Given the description of an element on the screen output the (x, y) to click on. 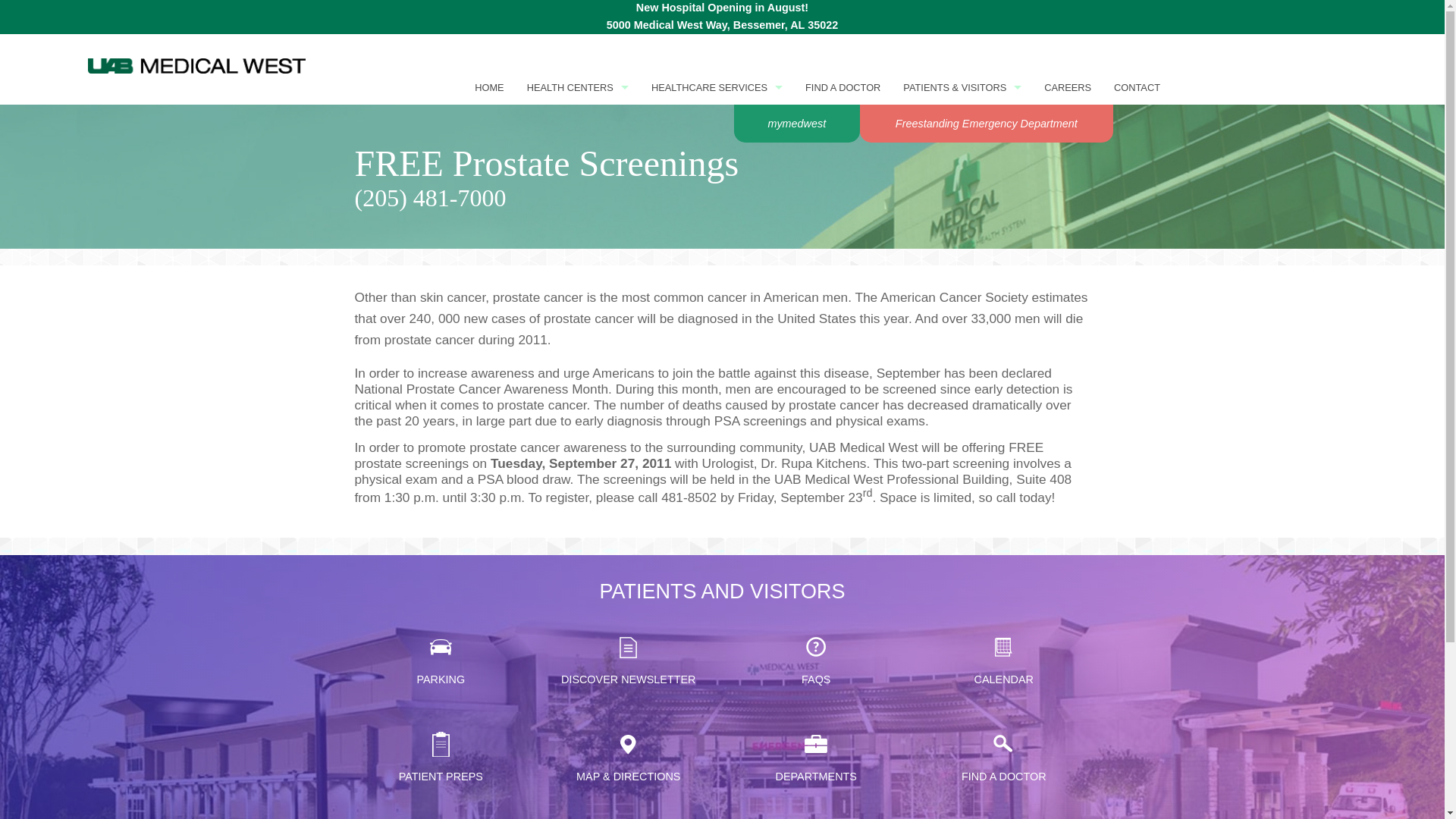
HOME (489, 87)
EMERGENCY SERVICES (716, 261)
MEDICAL WEST GASTROENTEROLOGY (577, 330)
GERIATRIC PSYCHIATRY (716, 366)
MEDICAL WEST CARDIOVASCULAR HEALTH CENTER (577, 296)
MEDICAL WEST BESSEMER CLINIC (577, 156)
MEDICAL WEST TANNEHILL HEALTH CENTER (577, 645)
HEALTH CENTERS (577, 87)
SLEEP CENTER (716, 435)
DIAGNOSTIC IMAGING (716, 226)
REHABILITATION SERVICES (716, 401)
MEDICAL WEST HUEYTOWN HEALTH CENTER (577, 401)
MEDICAL WEST PENDLETON HEALTH CENTER (577, 261)
ADVANCED WOUND CENTER (716, 121)
MEDICAL WEST ORTHOPAEDICS (577, 540)
